Given the description of an element on the screen output the (x, y) to click on. 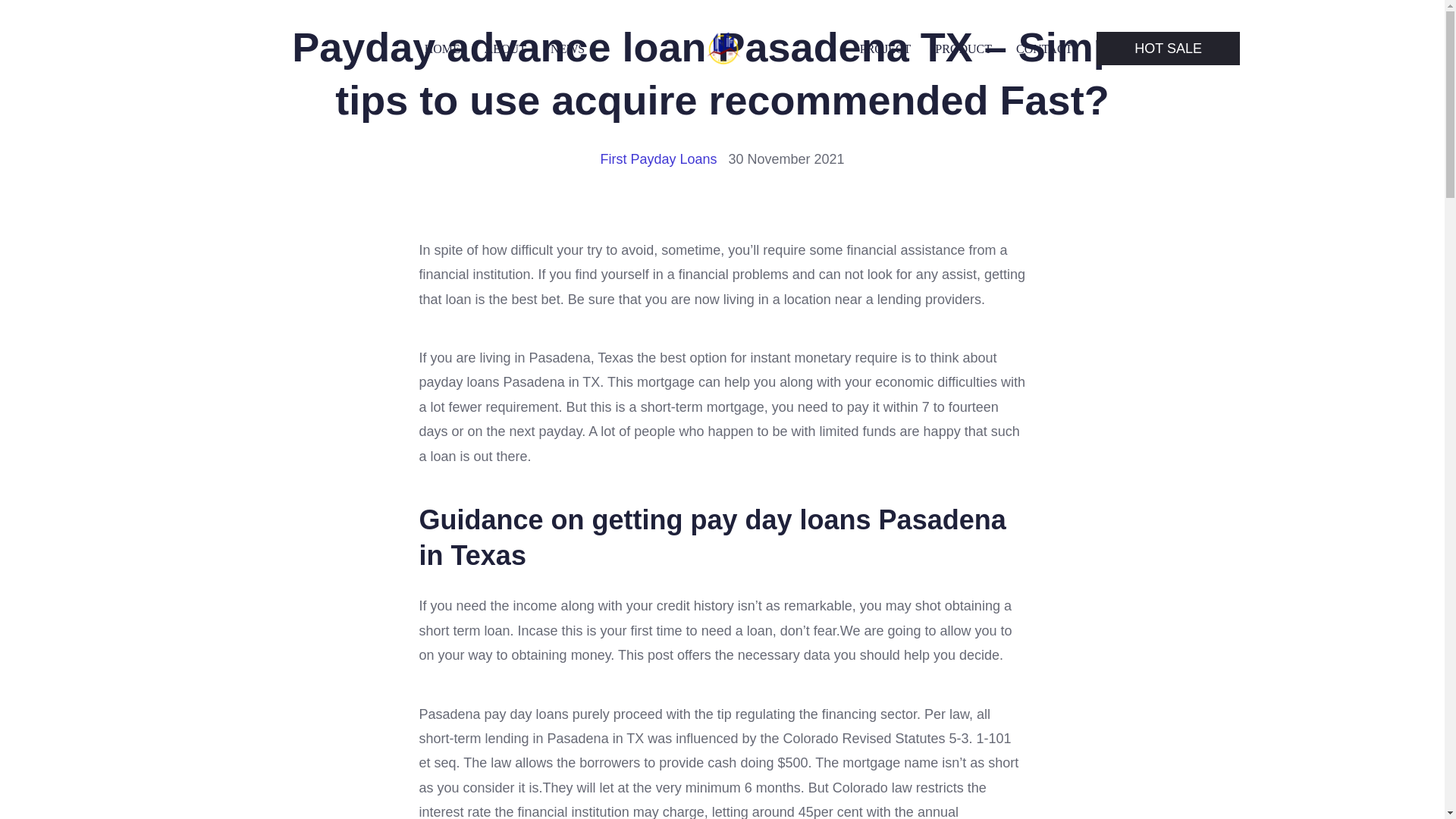
HOME (442, 49)
NEWS (567, 49)
Cari (50, 16)
ABOUT (504, 49)
PROJECT (885, 49)
